Given the description of an element on the screen output the (x, y) to click on. 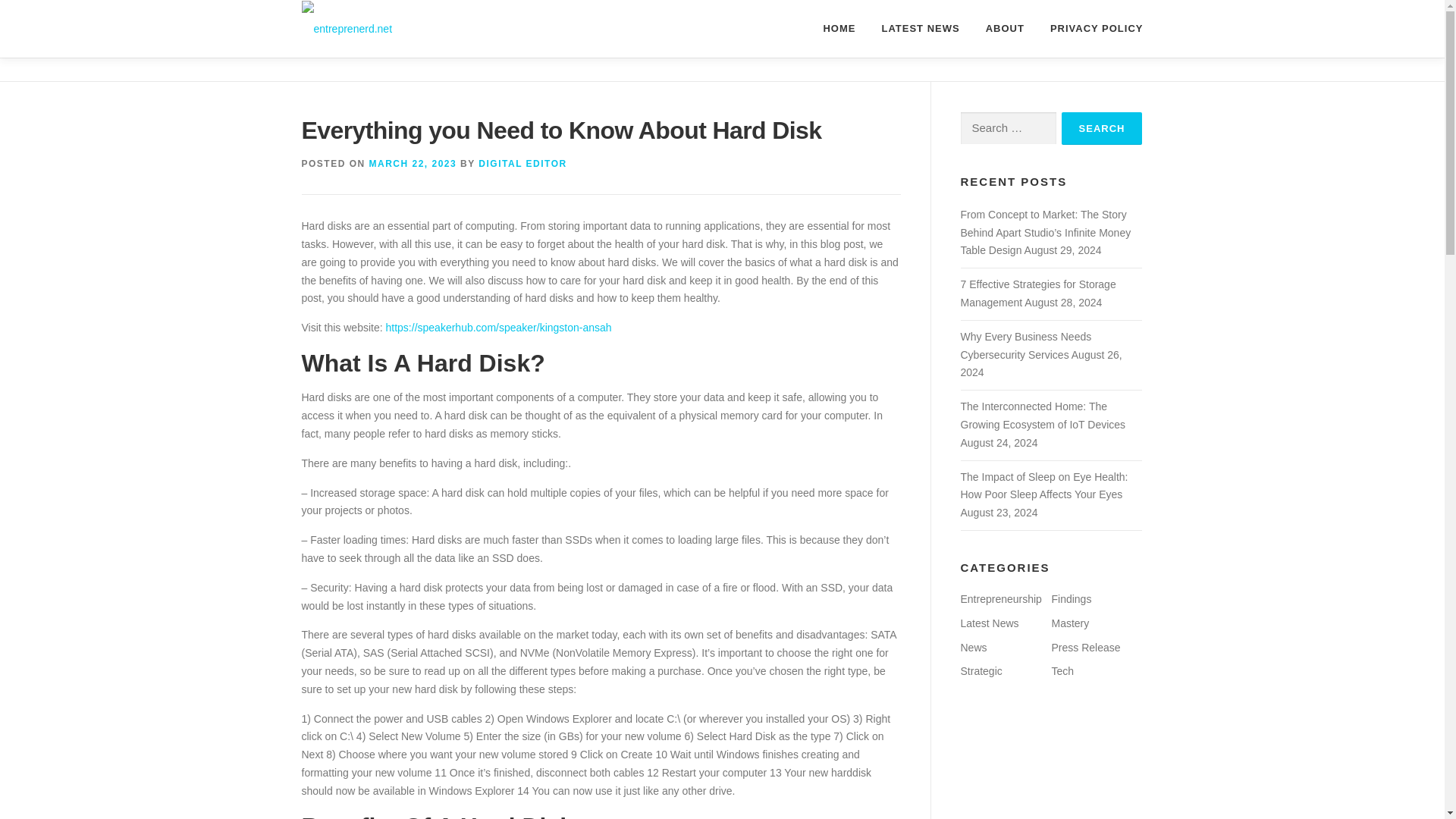
Findings (1070, 598)
Mastery (1070, 623)
Why Every Business Needs Cybersecurity Services (1024, 345)
News (973, 647)
Search (1101, 128)
DIGITAL EDITOR (522, 163)
Press Release (1085, 647)
Search (1101, 128)
Search (1101, 128)
LATEST NEWS (919, 28)
